Given the description of an element on the screen output the (x, y) to click on. 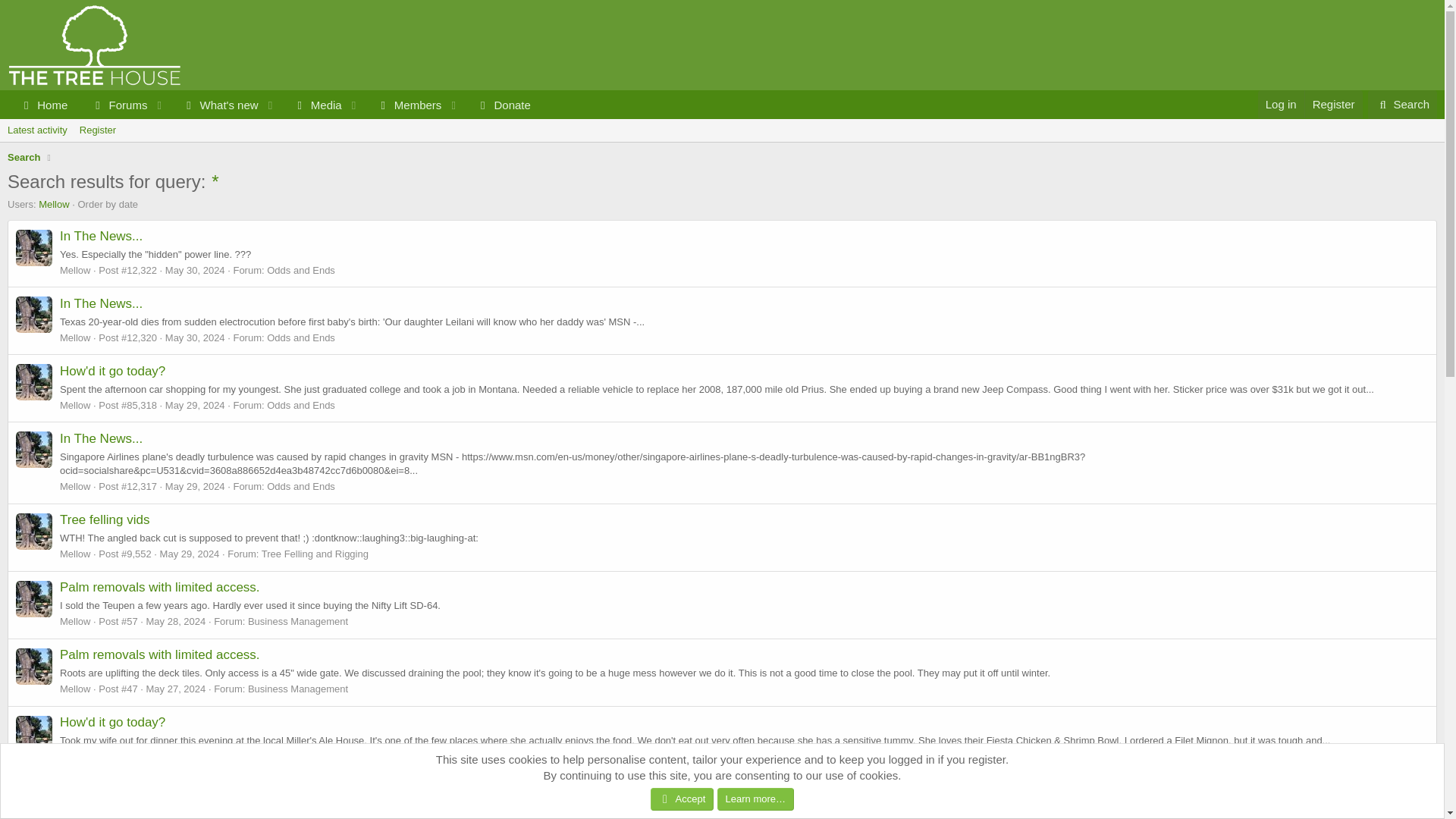
Register (1333, 103)
May 29, 2024 at 5:49 PM (195, 405)
What's new (721, 147)
May 30, 2024 at 6:06 PM (214, 104)
Donate (195, 337)
Media (502, 104)
Search (312, 104)
May 30, 2024 at 6:20 PM (23, 157)
Register (195, 270)
Members (98, 129)
Latest activity (404, 104)
May 29, 2024 at 7:06 AM (37, 129)
May 25, 2024 at 7:09 PM (189, 553)
May 28, 2024 at 7:57 PM (195, 756)
